Given the description of an element on the screen output the (x, y) to click on. 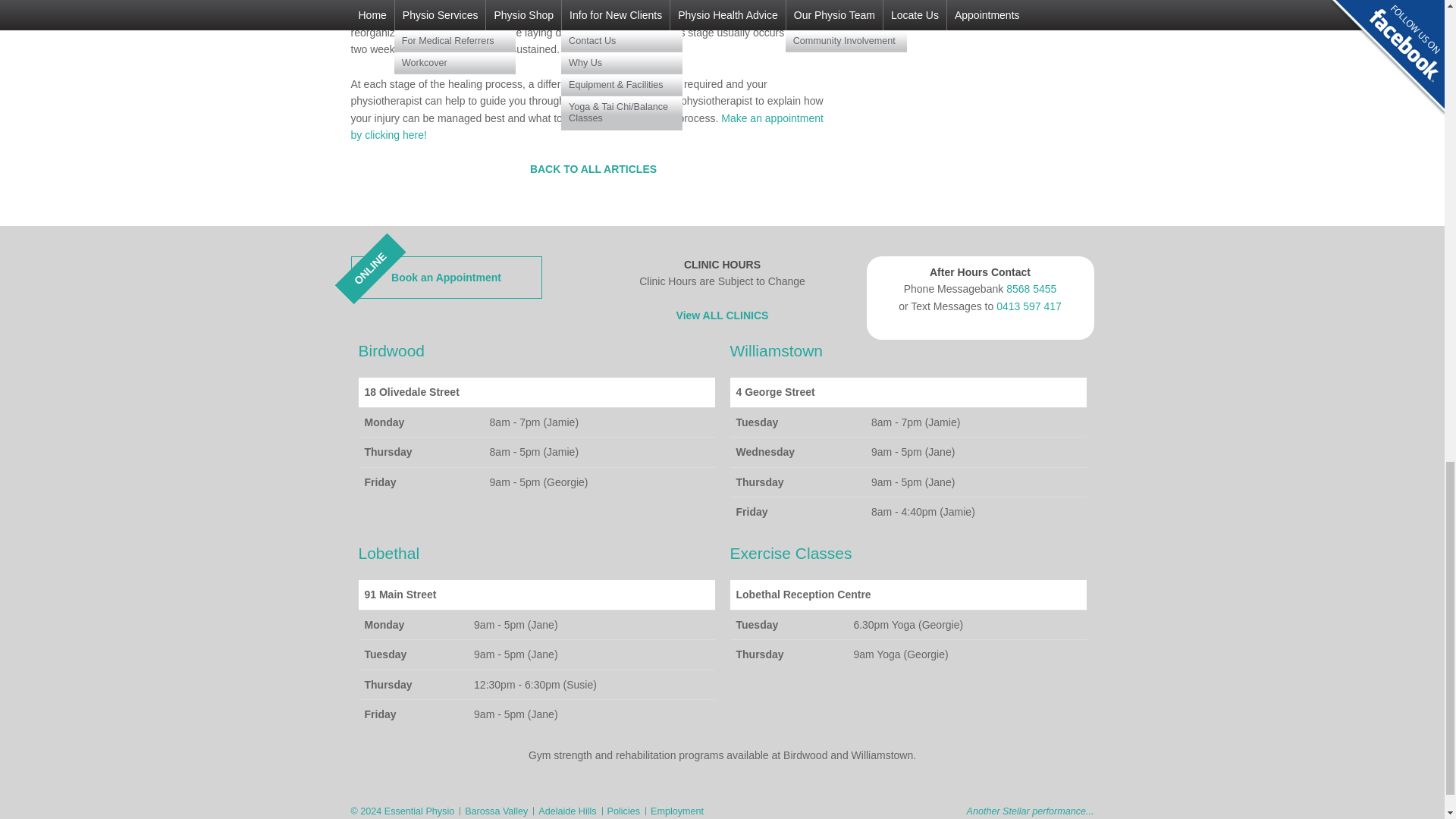
Barossa Valley (495, 810)
0413 597 417 (1028, 306)
Employment (676, 810)
8568 5455 (1031, 288)
Policies (445, 276)
View ALL CLINICS (623, 810)
BACK TO ALL ARTICLES (722, 315)
Make an appointment by clicking here! (592, 168)
Adelaide Hills (586, 126)
